Given the description of an element on the screen output the (x, y) to click on. 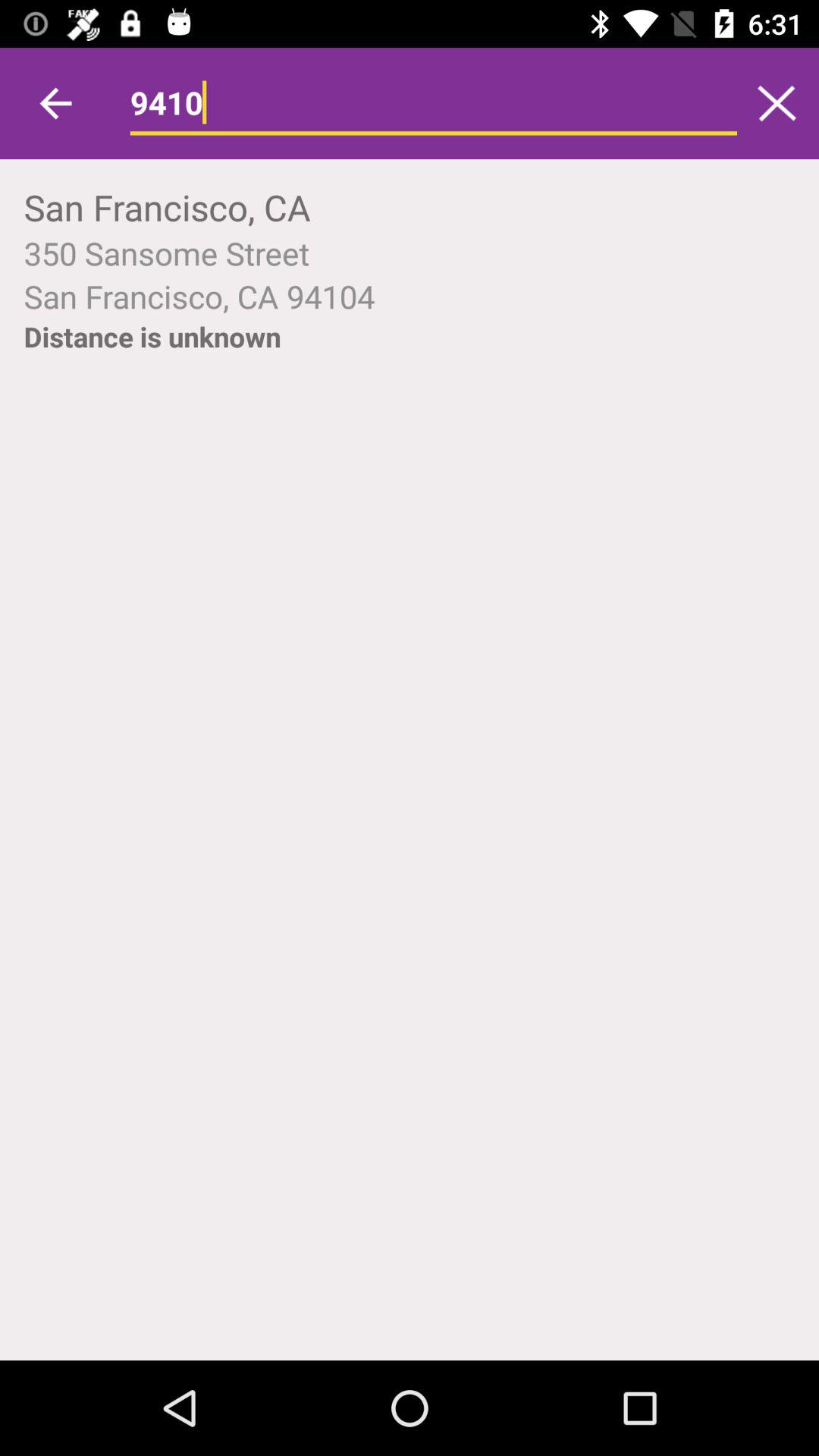
scroll to 9410 (433, 103)
